Given the description of an element on the screen output the (x, y) to click on. 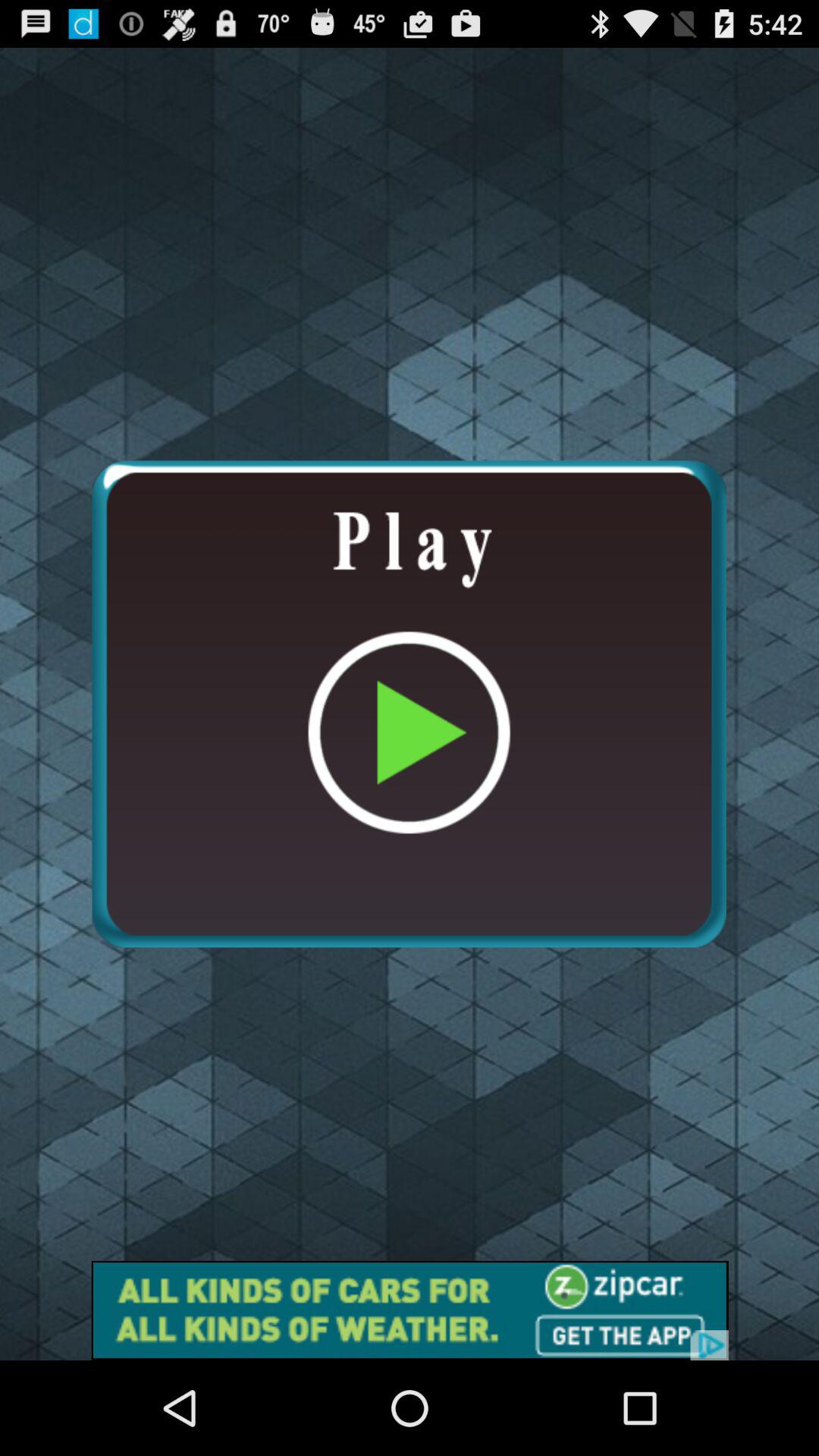
select play (409, 703)
